Given the description of an element on the screen output the (x, y) to click on. 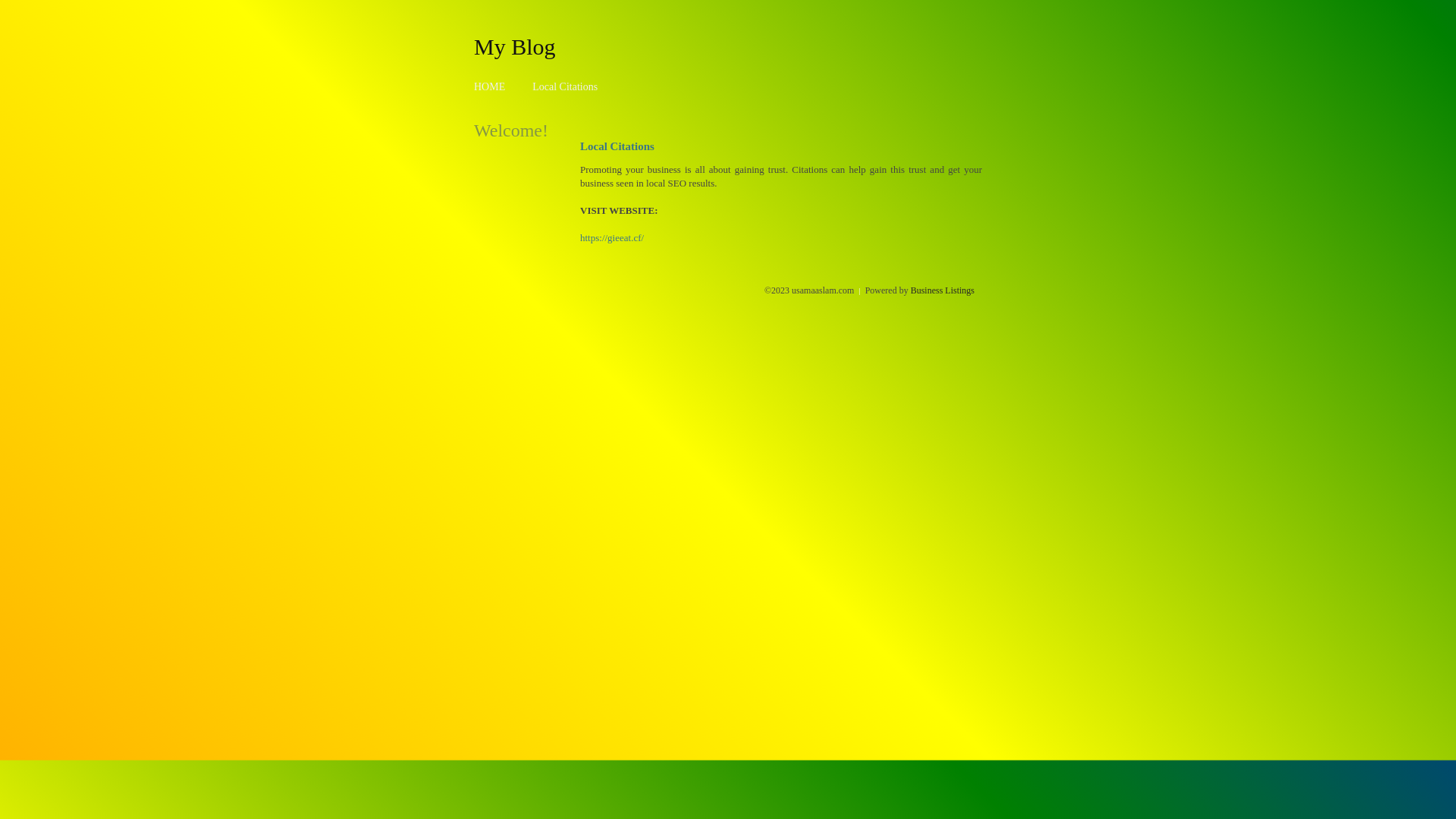
Local Citations Element type: text (564, 86)
https://gieeat.cf/ Element type: text (611, 237)
HOME Element type: text (489, 86)
Business Listings Element type: text (942, 290)
My Blog Element type: text (514, 46)
